Given the description of an element on the screen output the (x, y) to click on. 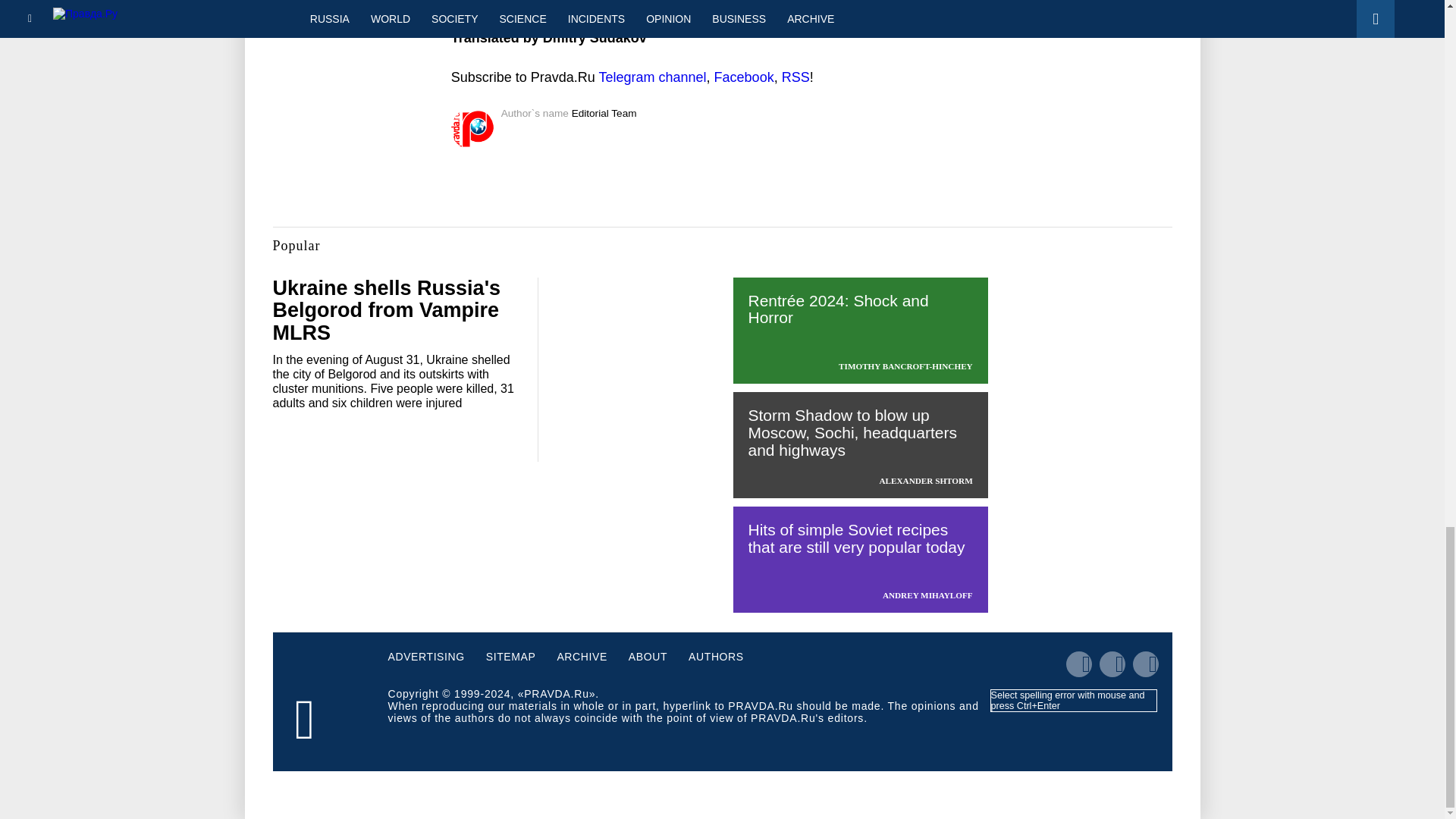
RSS (795, 77)
Telegram channel (652, 77)
Facebook (744, 77)
